Given the description of an element on the screen output the (x, y) to click on. 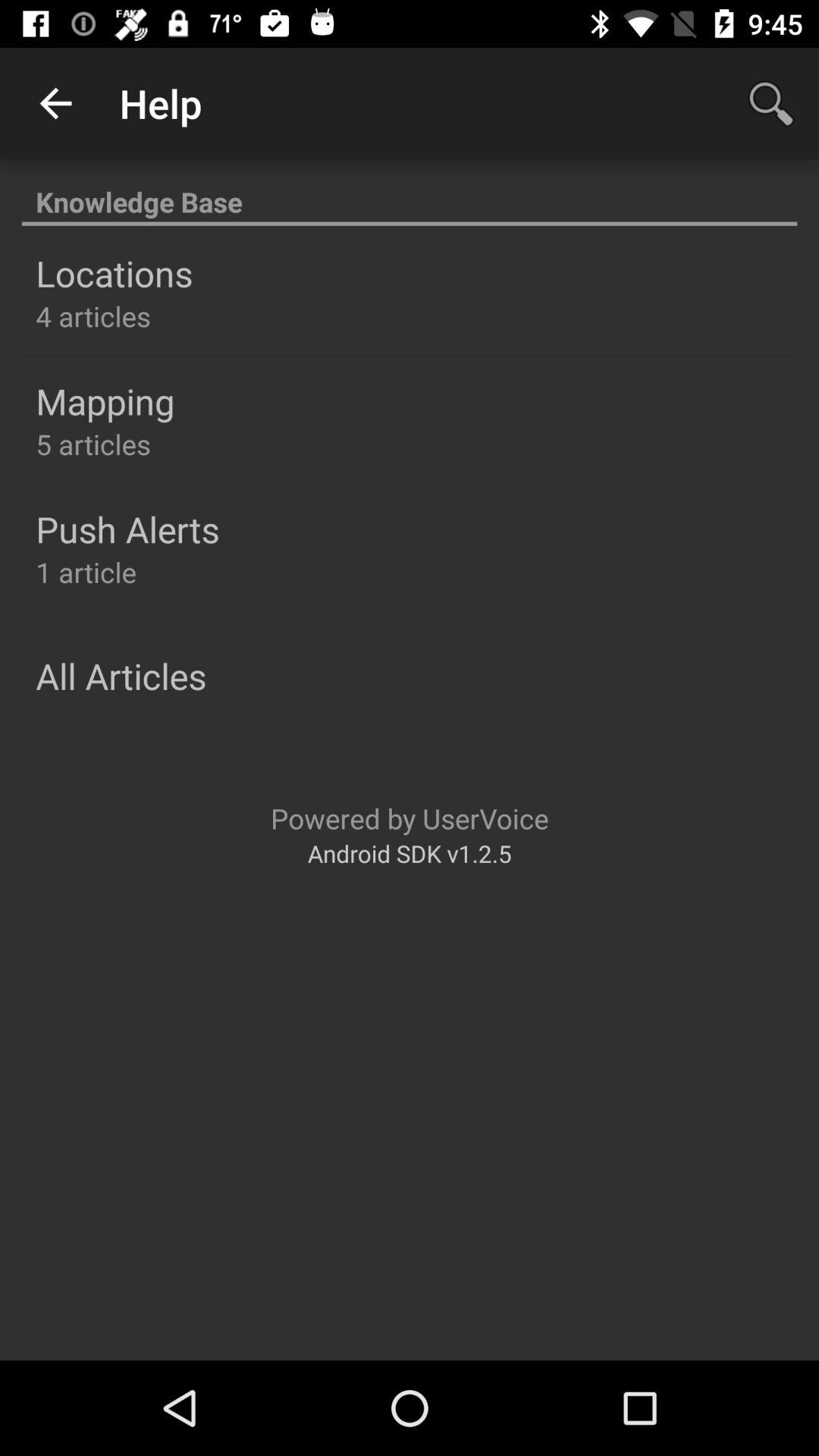
scroll until push alerts item (127, 529)
